Given the description of an element on the screen output the (x, y) to click on. 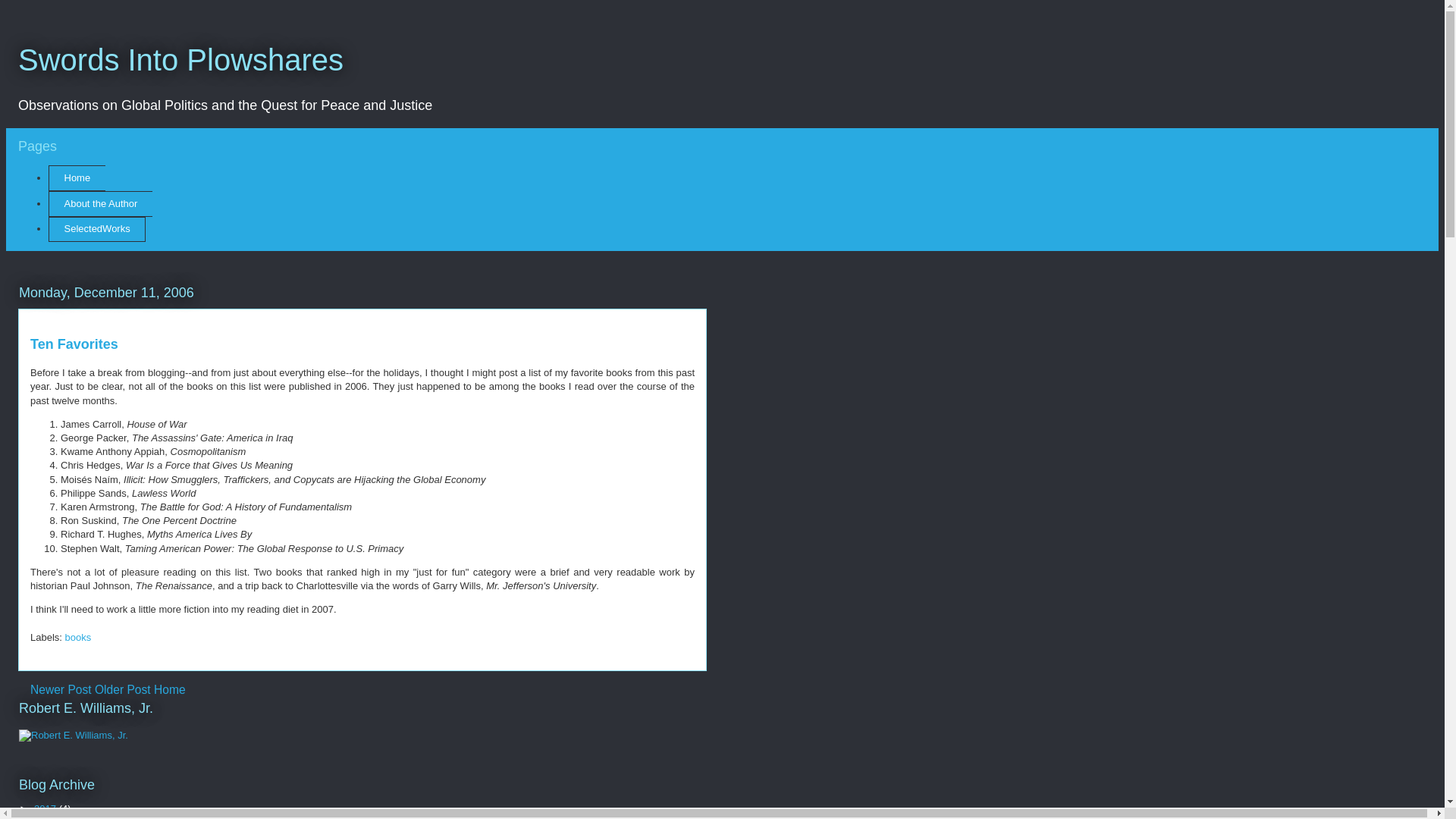
About the Author (100, 203)
Older Post (122, 689)
Newer Post (60, 689)
Home (170, 689)
books (78, 636)
2017 (46, 808)
Swords Into Plowshares (180, 59)
SelectedWorks (96, 229)
Home (76, 177)
Older Post (122, 689)
